Given the description of an element on the screen output the (x, y) to click on. 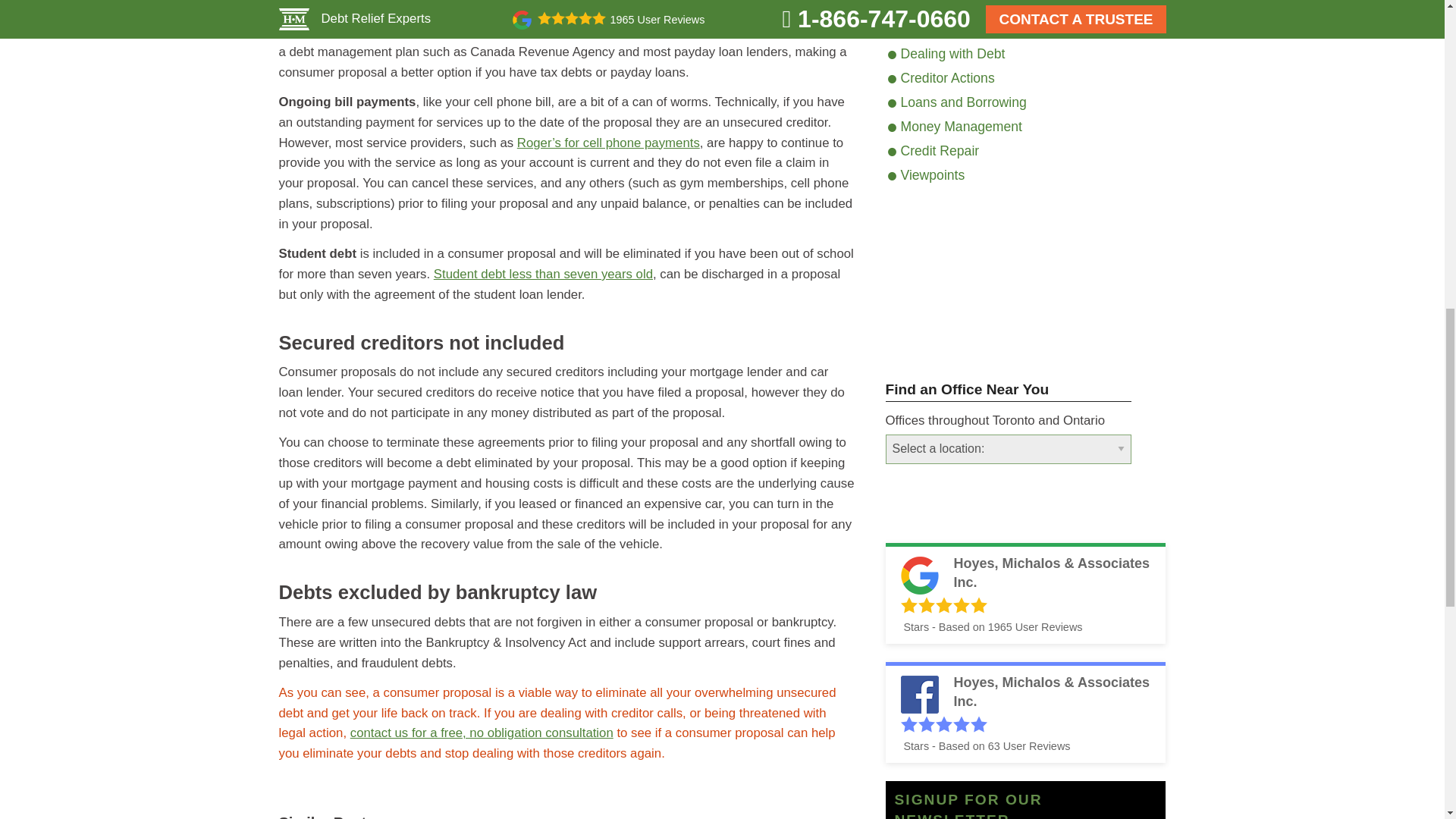
contact us for a free, no obligation consultation (481, 732)
Student debt less than seven years old (542, 273)
